Given the description of an element on the screen output the (x, y) to click on. 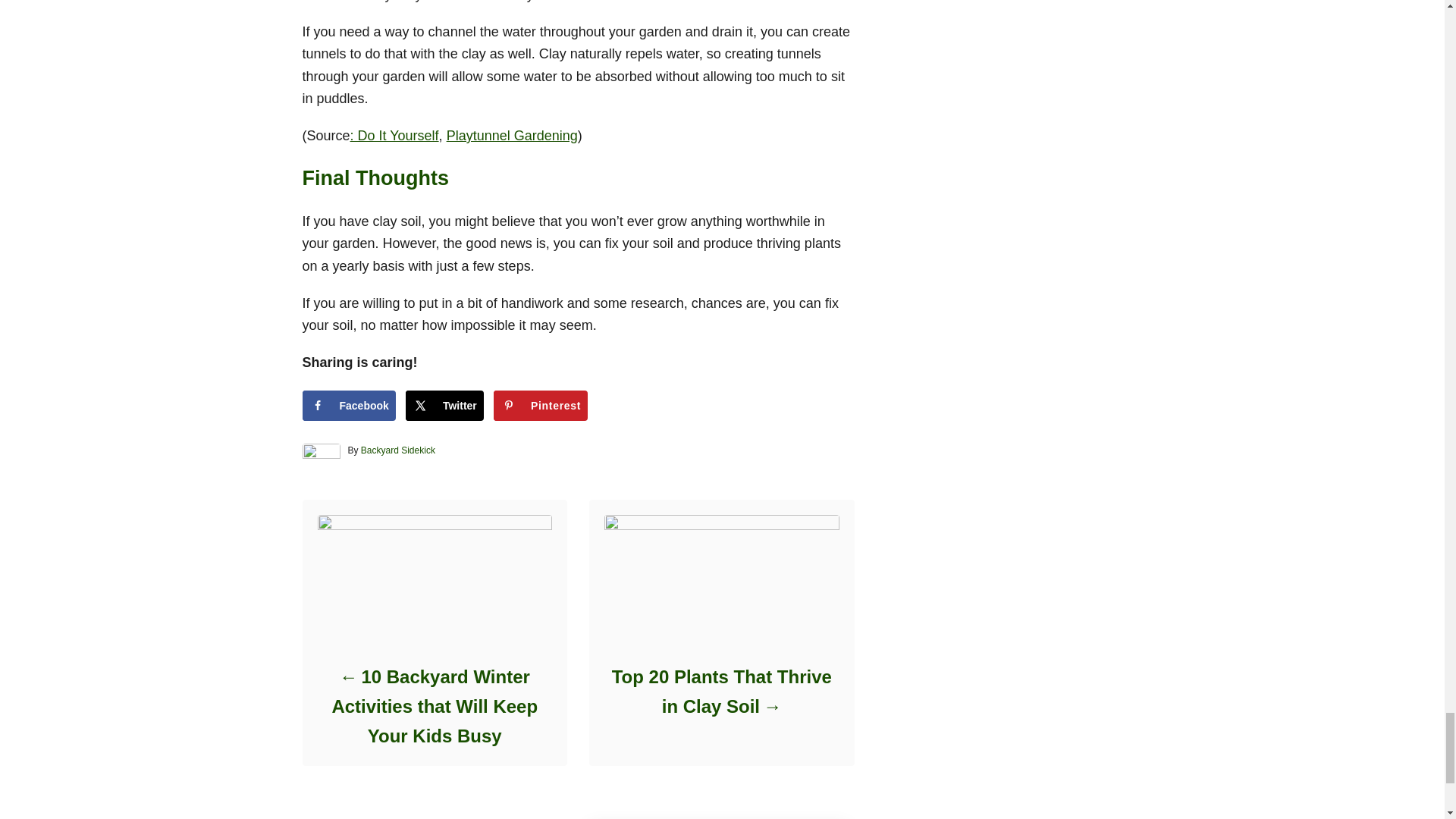
Share on X (444, 405)
Save to Pinterest (540, 405)
Share on Facebook (347, 405)
